Given the description of an element on the screen output the (x, y) to click on. 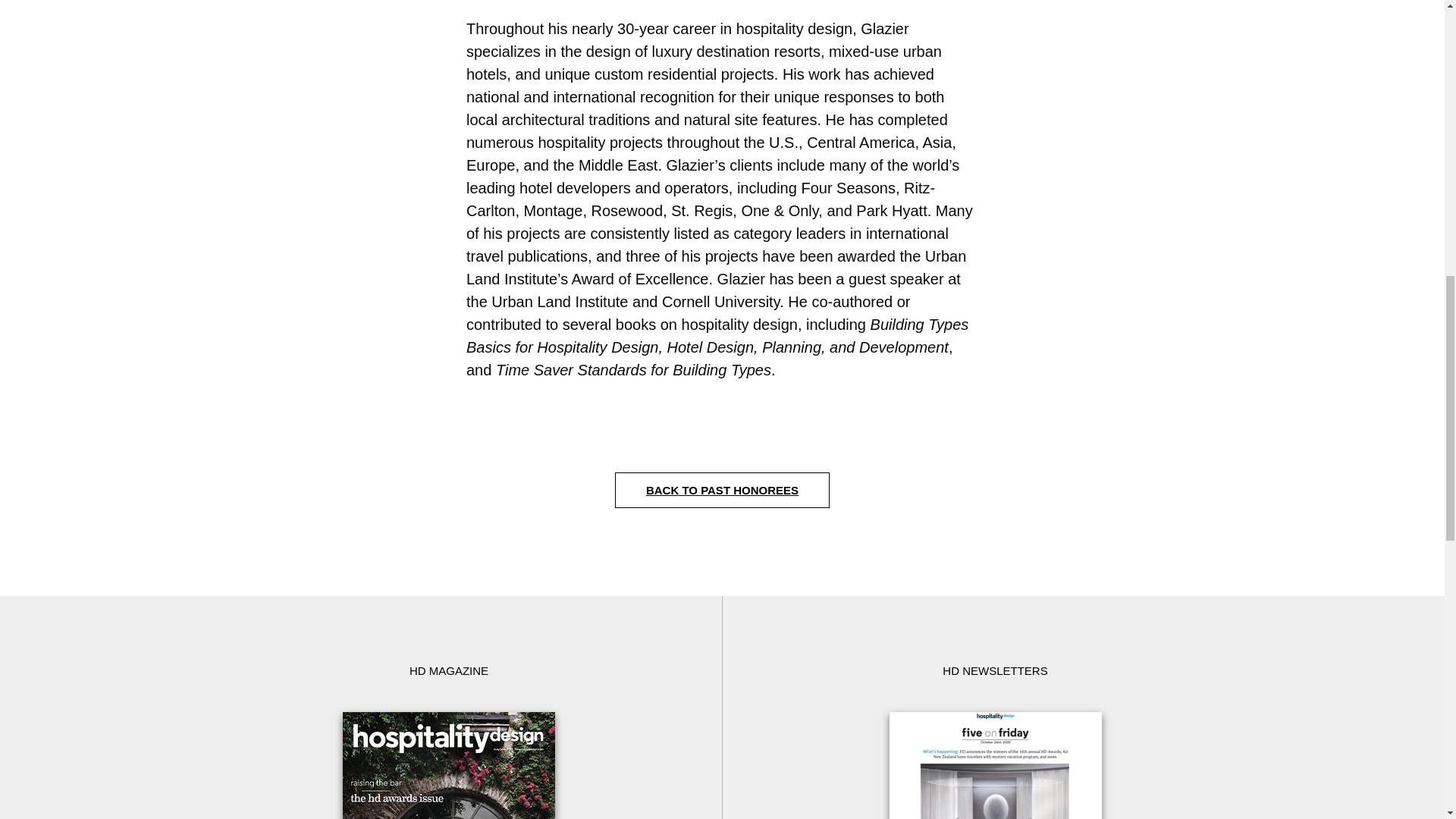
mayjune-2024-issue (448, 765)
BACK TO PAST HONOREES (721, 490)
preview-full-Newsletter-Five-on-Friday (994, 765)
